Given the description of an element on the screen output the (x, y) to click on. 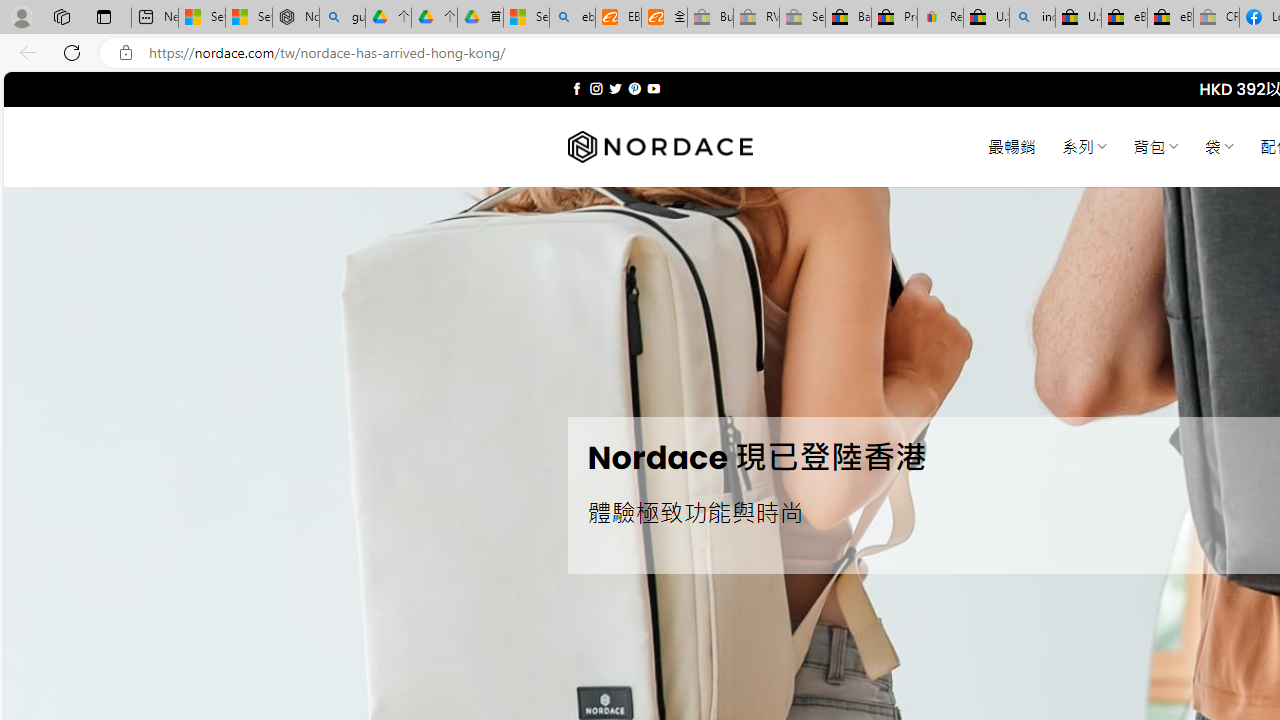
Follow on YouTube (653, 88)
